Given the description of an element on the screen output the (x, y) to click on. 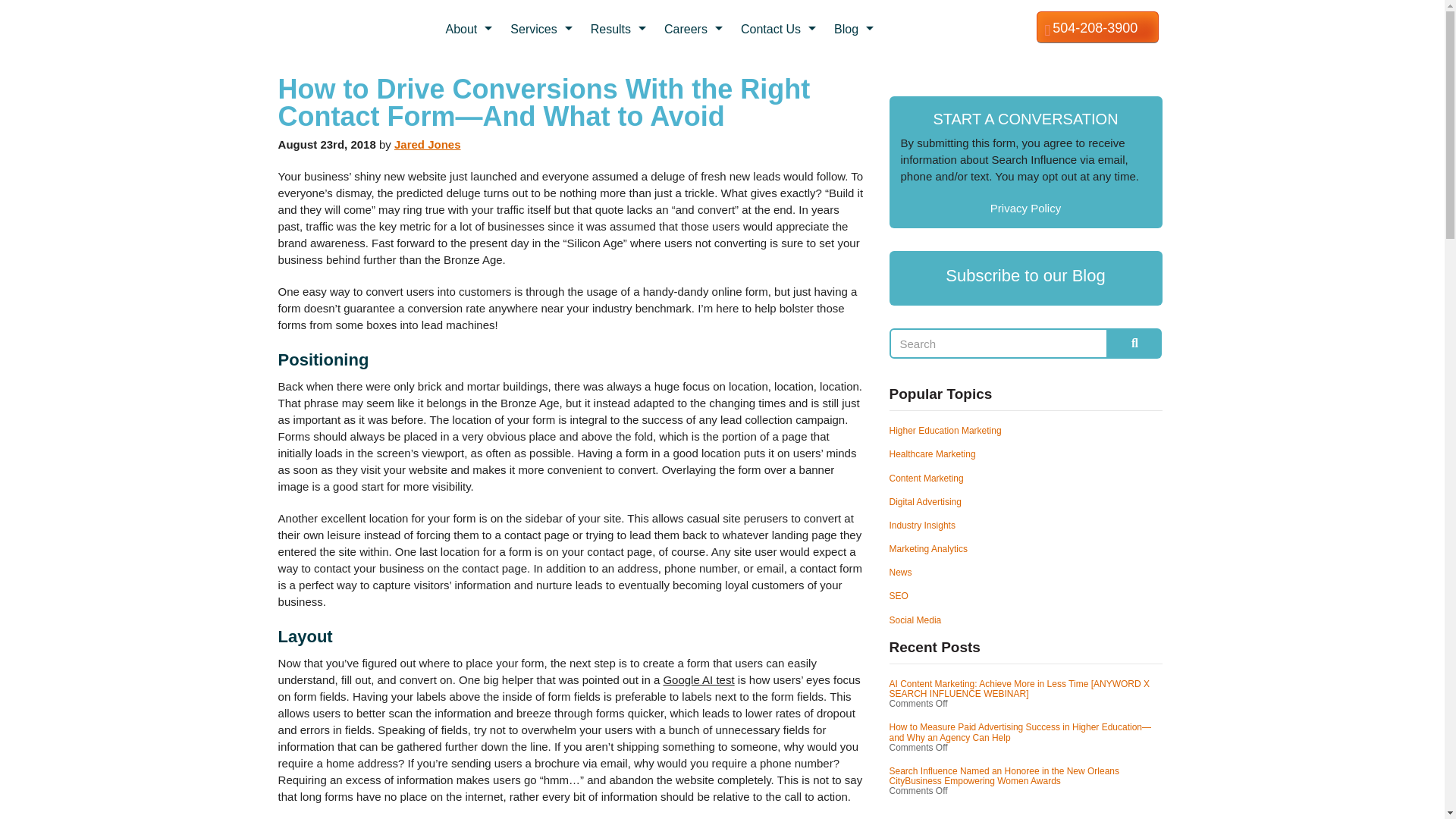
Contact Us (780, 29)
Careers (695, 29)
About (470, 29)
Results (620, 29)
Blog (856, 29)
Services (543, 29)
Search (998, 343)
